Given the description of an element on the screen output the (x, y) to click on. 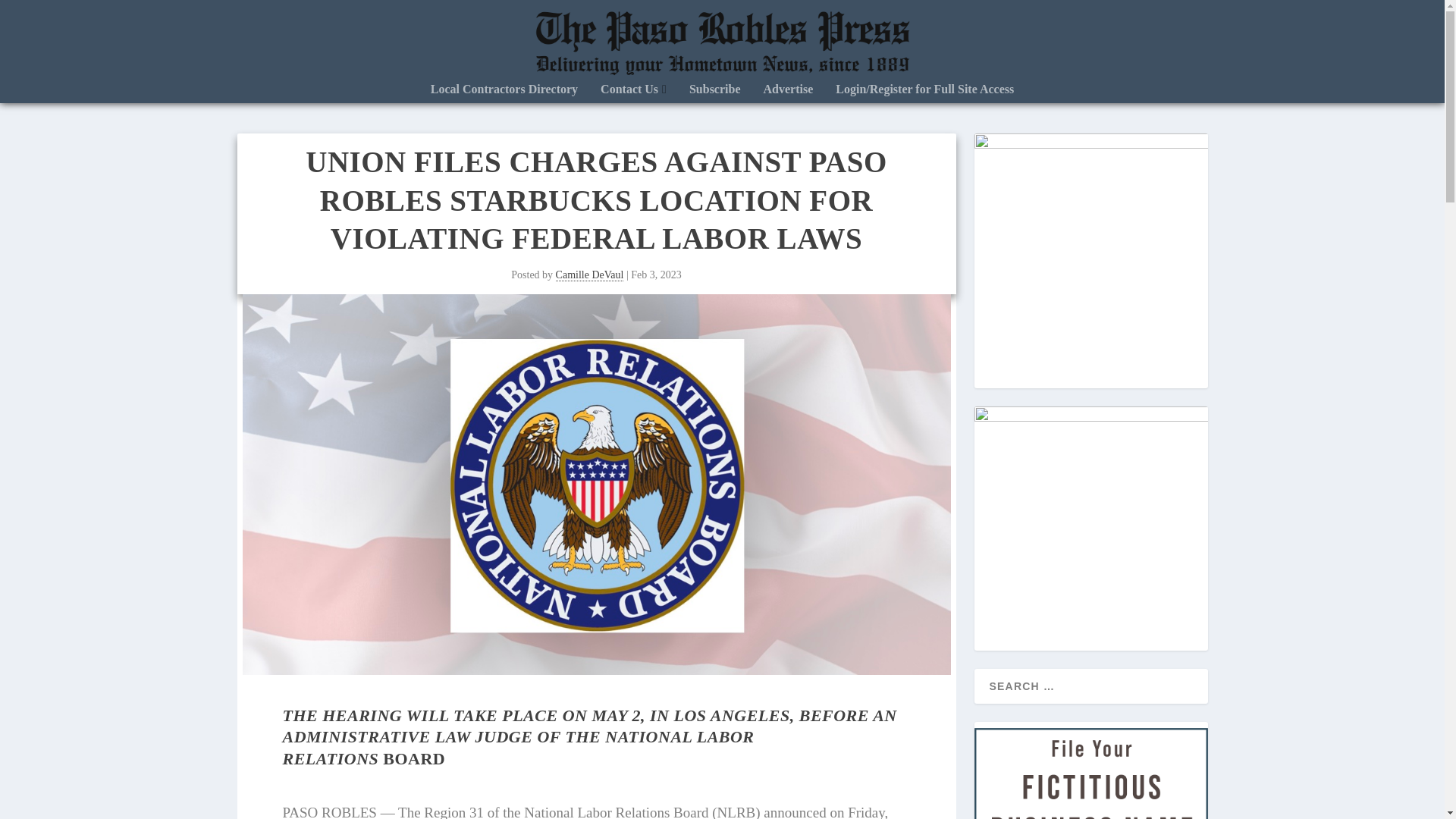
Contact Us (632, 93)
Camille DeVaul (590, 275)
Local Contractors Directory (504, 93)
Subscribe (714, 93)
Advertise (787, 93)
Posts by Camille DeVaul (590, 275)
